Given the description of an element on the screen output the (x, y) to click on. 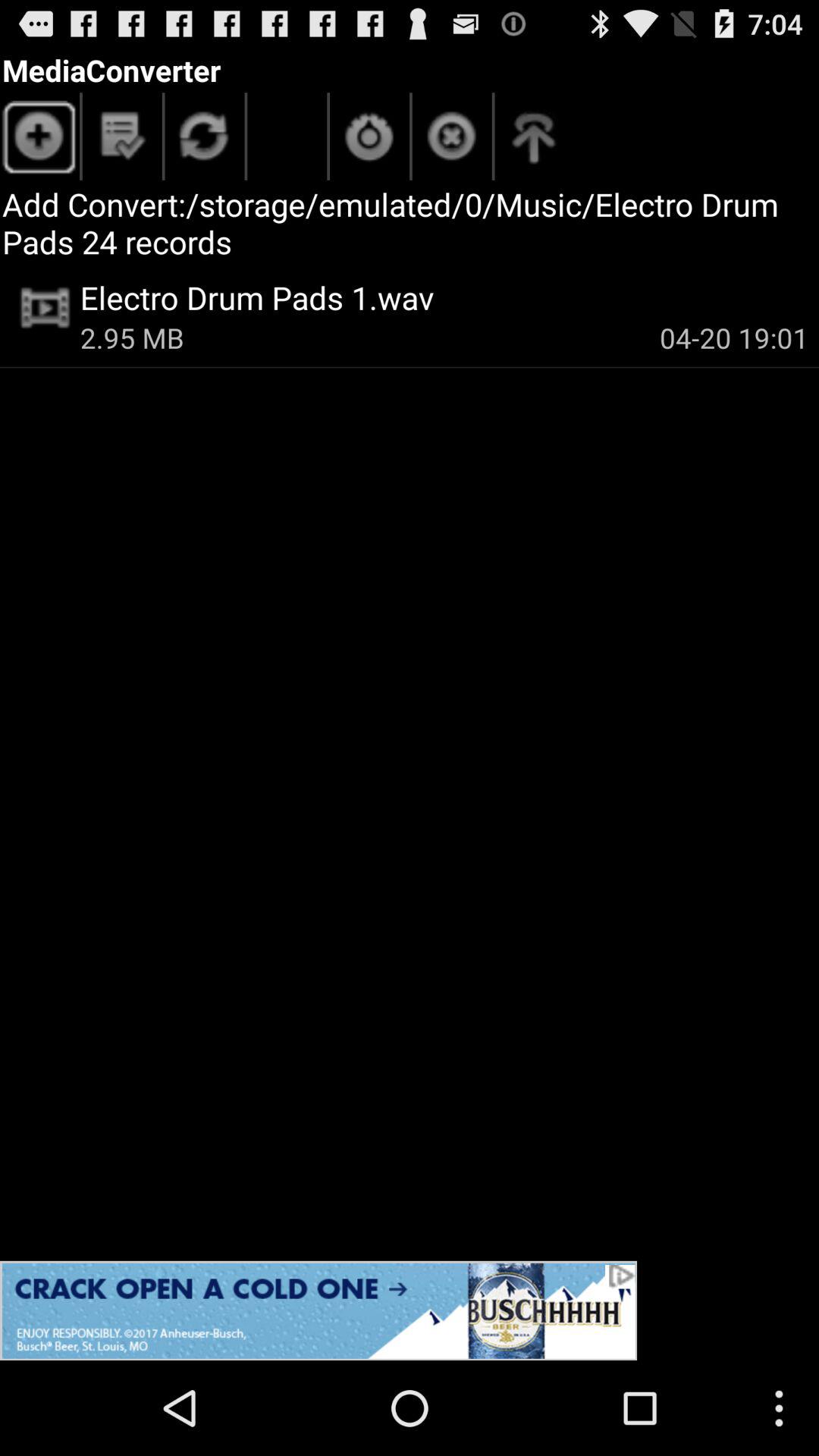
new add option (39, 140)
